Given the description of an element on the screen output the (x, y) to click on. 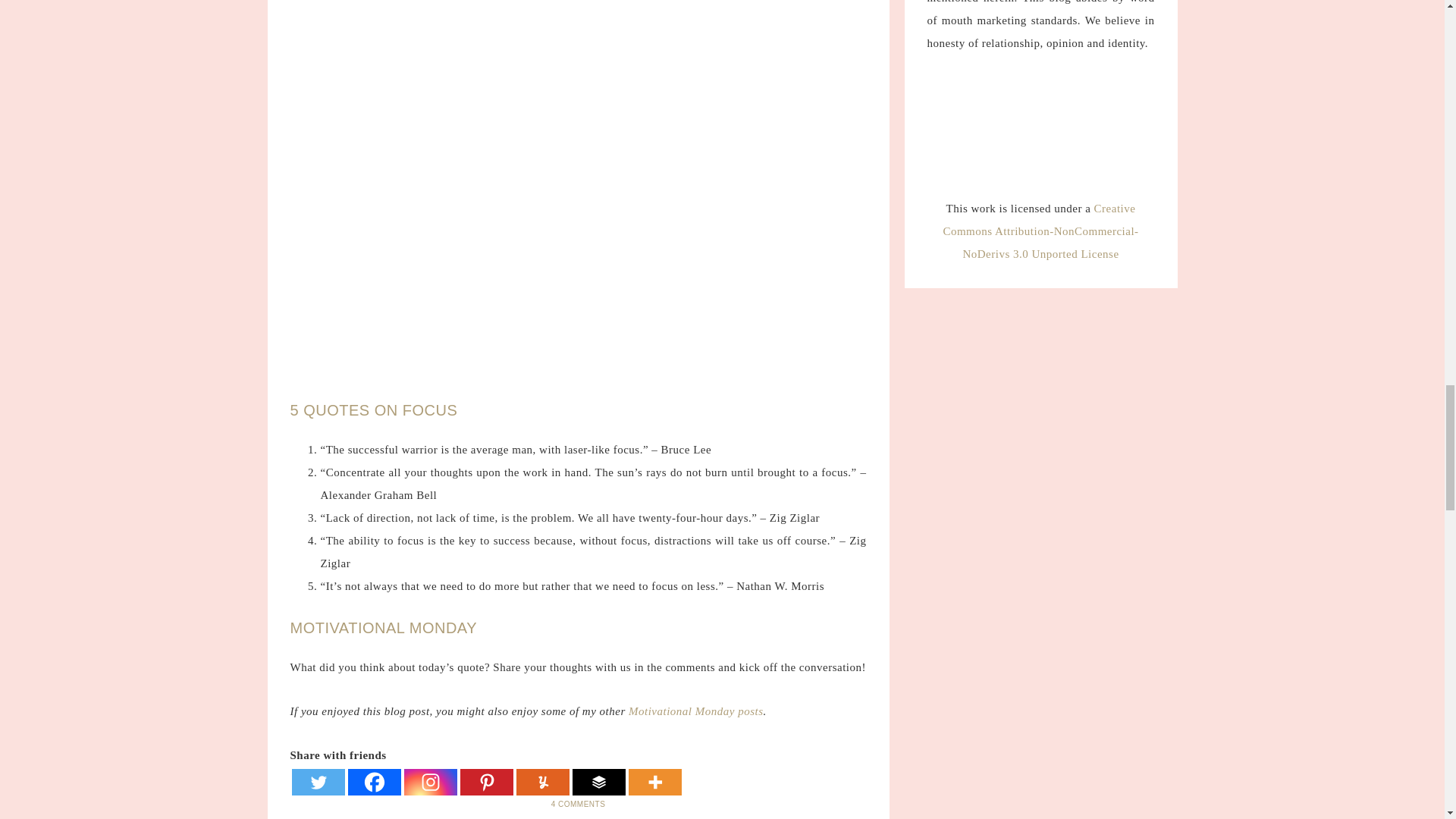
More (654, 782)
Twitter (317, 782)
Yummly (542, 782)
Buffer (598, 782)
Motivational Monday posts (695, 711)
Instagram (430, 782)
Facebook (373, 782)
Pinterest (486, 782)
